Given the description of an element on the screen output the (x, y) to click on. 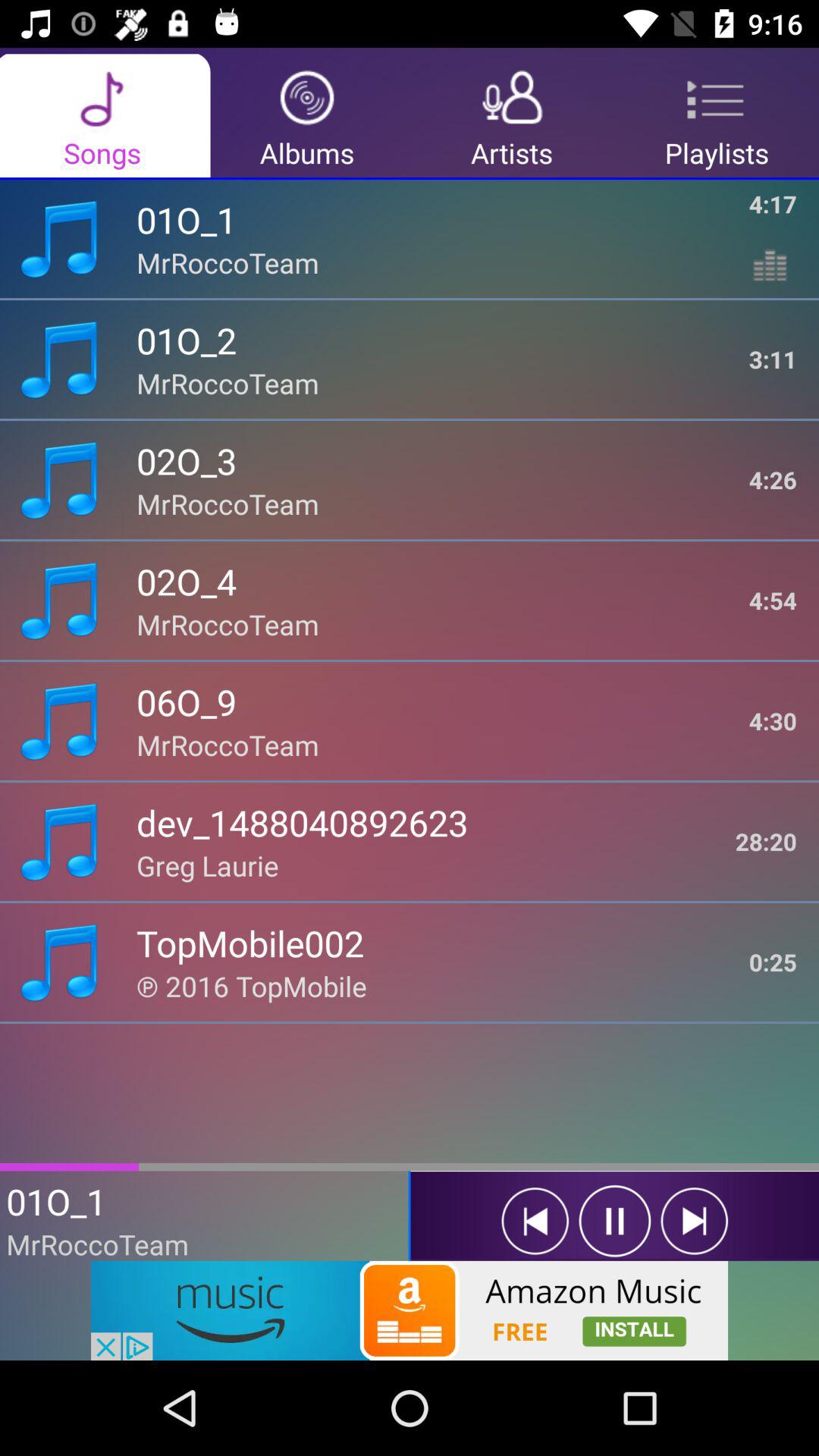
go to forward (694, 1220)
